Given the description of an element on the screen output the (x, y) to click on. 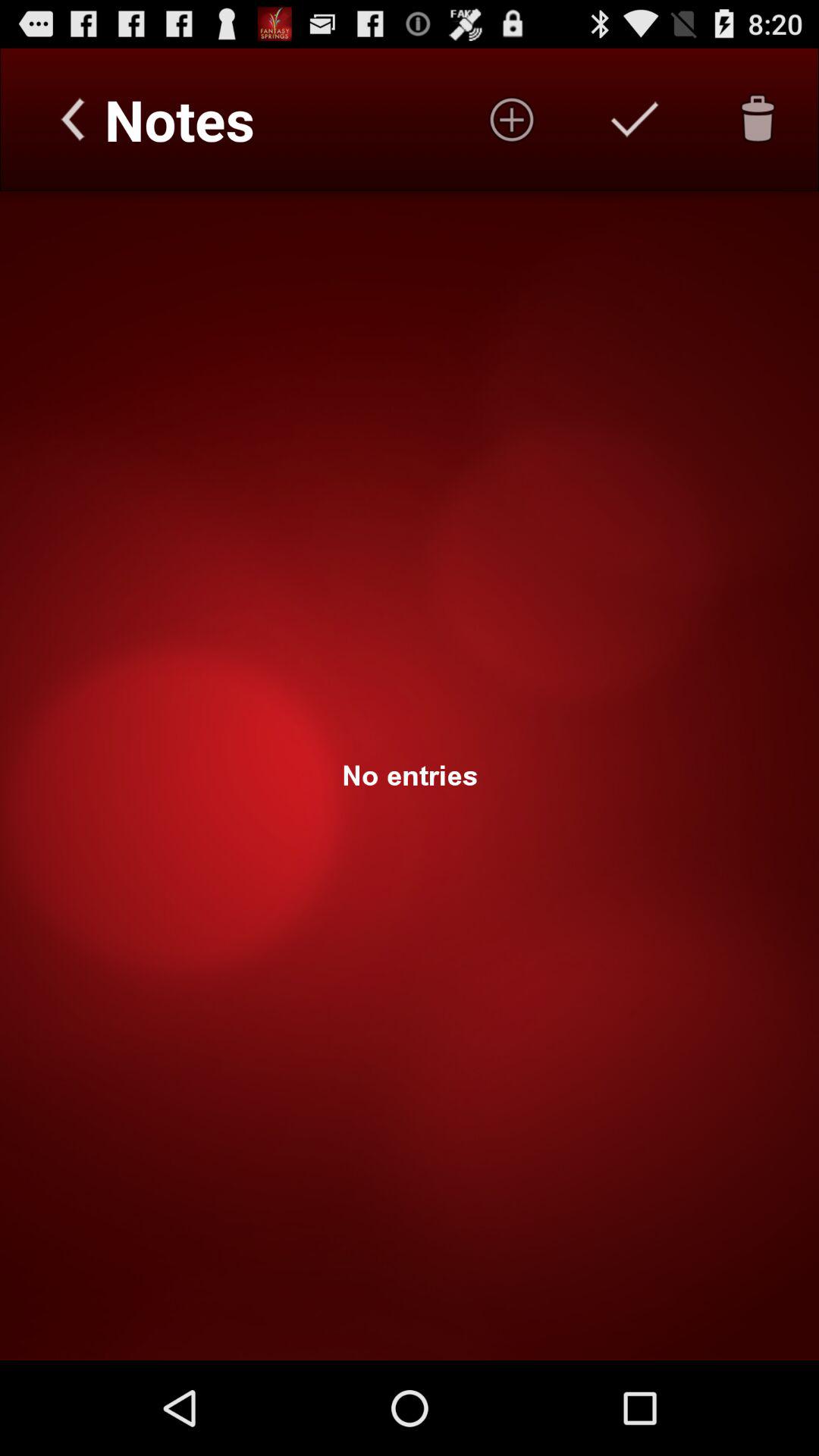
the delete icon represented to remove or delete the unwanted data (757, 119)
